Given the description of an element on the screen output the (x, y) to click on. 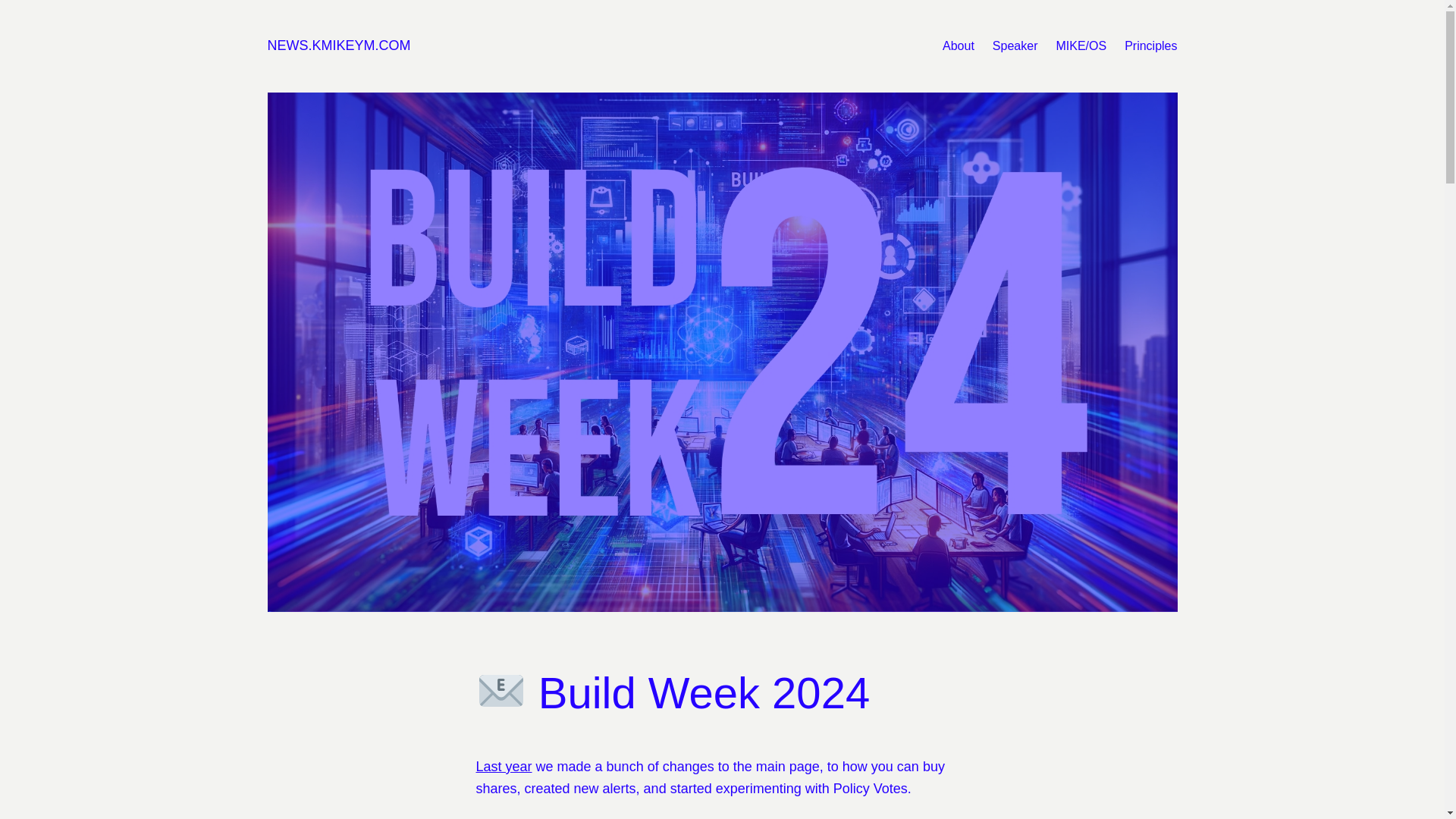
Speaker (1015, 46)
Principles (1150, 46)
About (958, 46)
Last year (504, 766)
NEWS.KMIKEYM.COM (338, 45)
